Given the description of an element on the screen output the (x, y) to click on. 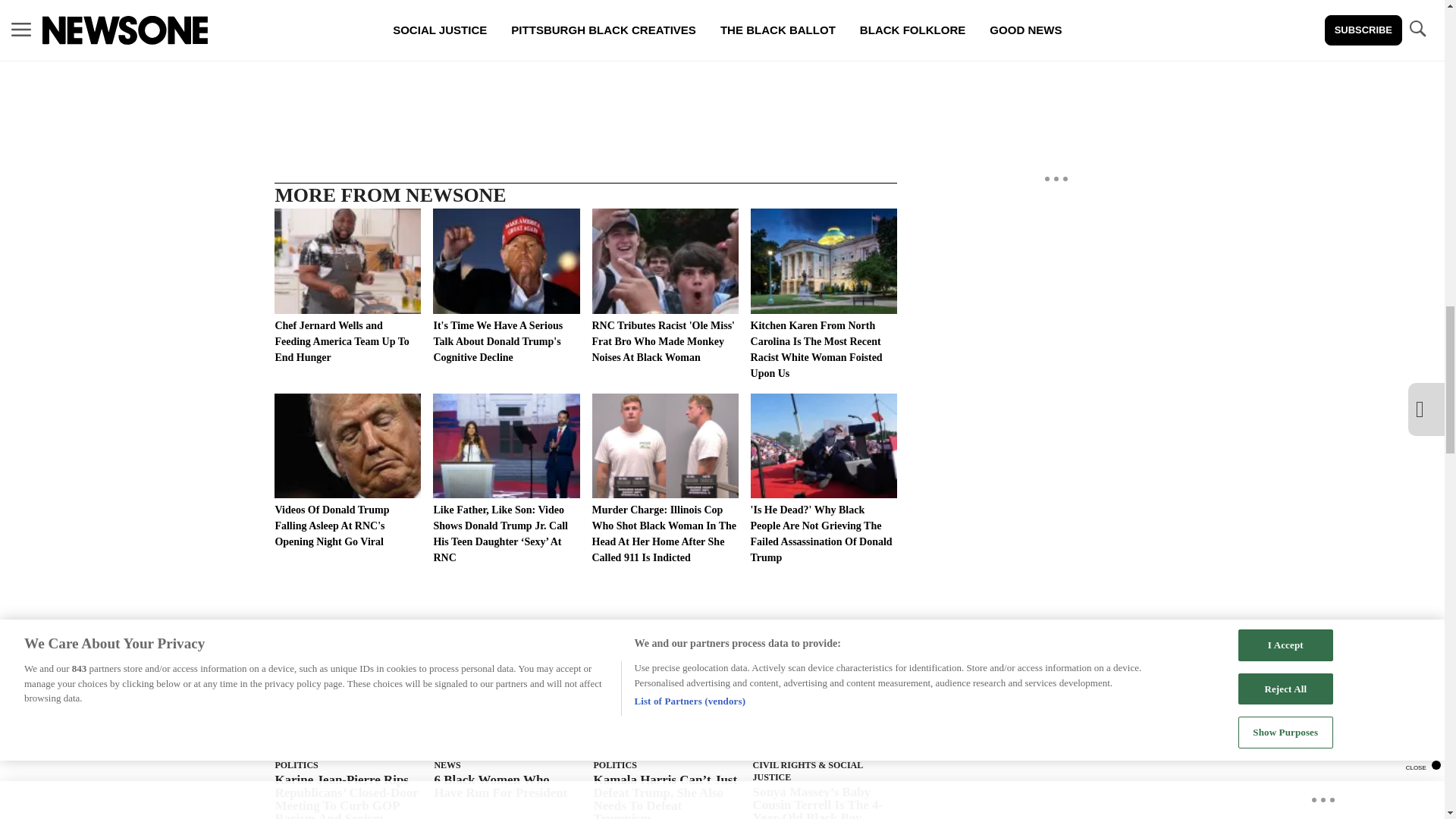
POLITICS (296, 765)
More from NewsOne (391, 636)
JEREMY MCDOLE (502, 44)
Vuukle Sharebar Widget (585, 82)
POLICE BRUTALITY (626, 44)
Chef Jernard Wells and Feeding America Team Up To End Hunger (347, 286)
DELAWARE POLICE (380, 44)
